Given the description of an element on the screen output the (x, y) to click on. 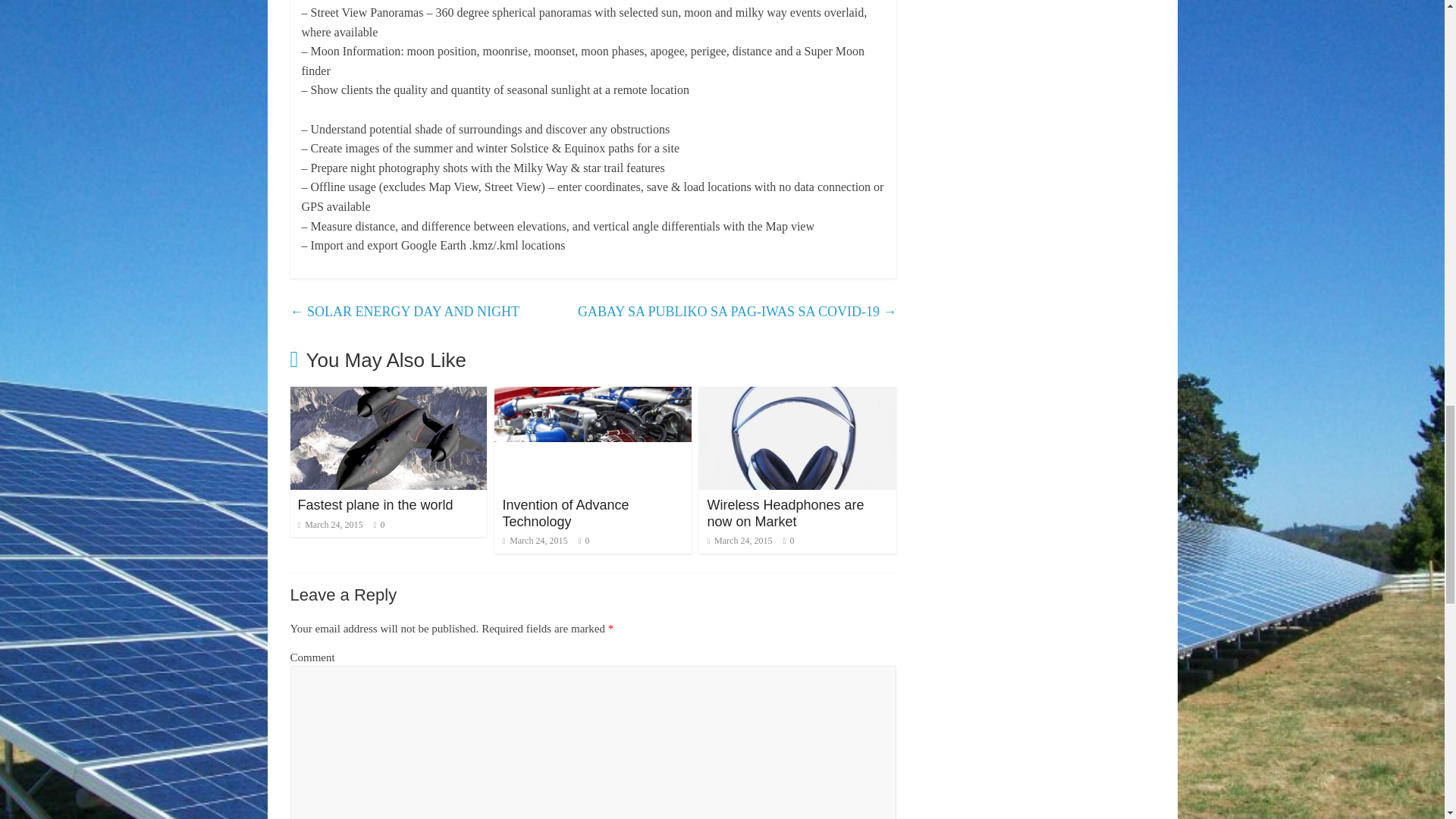
11:23 am (329, 524)
Fastest plane in the world (387, 395)
March 24, 2015 (329, 524)
Fastest plane in the world (374, 504)
Fastest plane in the world (374, 504)
